Given the description of an element on the screen output the (x, y) to click on. 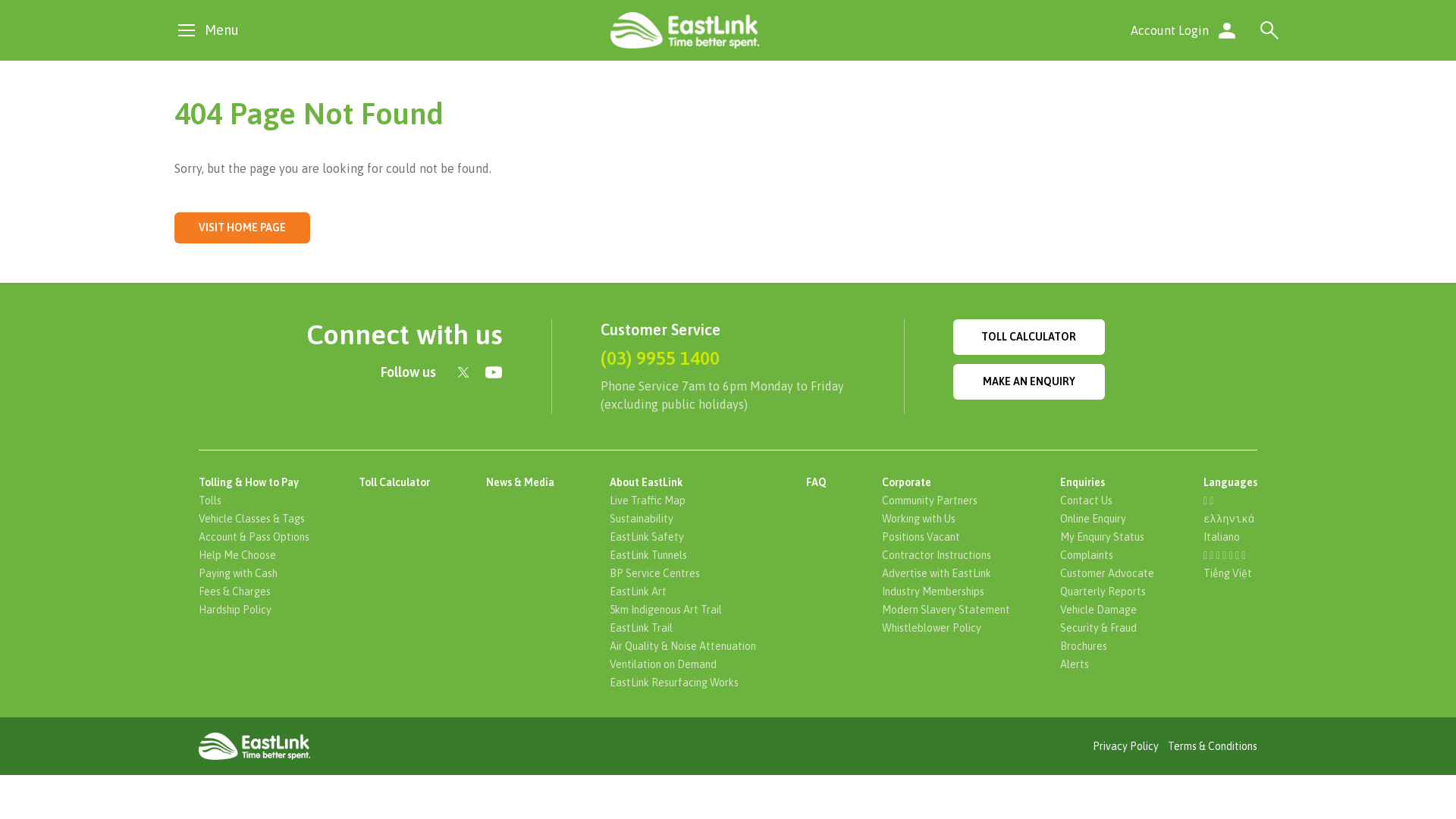
News & Media Element type: text (529, 481)
About EastLink Element type: text (654, 481)
Working with Us Element type: text (924, 518)
Modern Slavery Statement Element type: text (951, 609)
Corporate Element type: text (915, 481)
Hardship Policy Element type: text (240, 609)
Italiano Element type: text (1221, 536)
Search Element type: hover (1269, 30)
Air Quality & Noise Attenuation Element type: text (688, 646)
EastLink Trail Element type: text (646, 627)
Brochures Element type: text (1089, 646)
Quarterly Reports Element type: text (1108, 591)
Industry Memberships Element type: text (938, 591)
My Enquiry Status Element type: text (1108, 536)
Tolls Element type: text (215, 500)
Connect with us on Twitter Element type: hover (463, 372)
TOLL CALCULATOR Element type: text (1028, 336)
Terms & Conditions Element type: text (1212, 745)
Help Me Choose Element type: text (243, 555)
Account & Pass Options Element type: text (259, 536)
Community Partners Element type: text (935, 500)
Vehicle Classes & Tags Element type: text (257, 518)
Account Login Element type: text (1184, 30)
Toll Calculator Element type: text (403, 481)
EastLink Tunnels Element type: text (654, 555)
EastLink Resurfacing Works Element type: text (679, 682)
Customer Advocate Element type: text (1113, 573)
Security & Fraud Element type: text (1104, 627)
Alerts Element type: text (1080, 664)
5km Indigenous Art Trail Element type: text (671, 609)
Online Enquiry Element type: text (1099, 518)
Whistleblower Policy Element type: text (937, 627)
MAKE AN ENQUIRY Element type: text (1028, 381)
EastLink Safety Element type: text (652, 536)
Privacy Policy Element type: text (1125, 745)
Enquiries Element type: text (1091, 481)
Paying with Cash Element type: text (243, 573)
BP Service Centres Element type: text (660, 573)
Positions Vacant Element type: text (926, 536)
VISIT HOME PAGE Element type: text (242, 228)
FAQ Element type: text (825, 481)
Menu Element type: text (206, 30)
EastLink Art Element type: text (643, 591)
Languages Element type: text (1230, 482)
Fees & Charges Element type: text (240, 591)
(03) 9955 1400 Element type: text (659, 358)
Sustainability Element type: text (647, 518)
Tolling & How to Pay Element type: text (257, 481)
Complaints Element type: text (1092, 555)
Ventilation on Demand Element type: text (668, 664)
Live Traffic Map Element type: text (653, 500)
Vehicle Damage Element type: text (1104, 609)
Find us on YouTube Element type: hover (493, 372)
Advertise with EastLink Element type: text (942, 573)
Contact Us Element type: text (1092, 500)
Contractor Instructions Element type: text (942, 555)
